Given the description of an element on the screen output the (x, y) to click on. 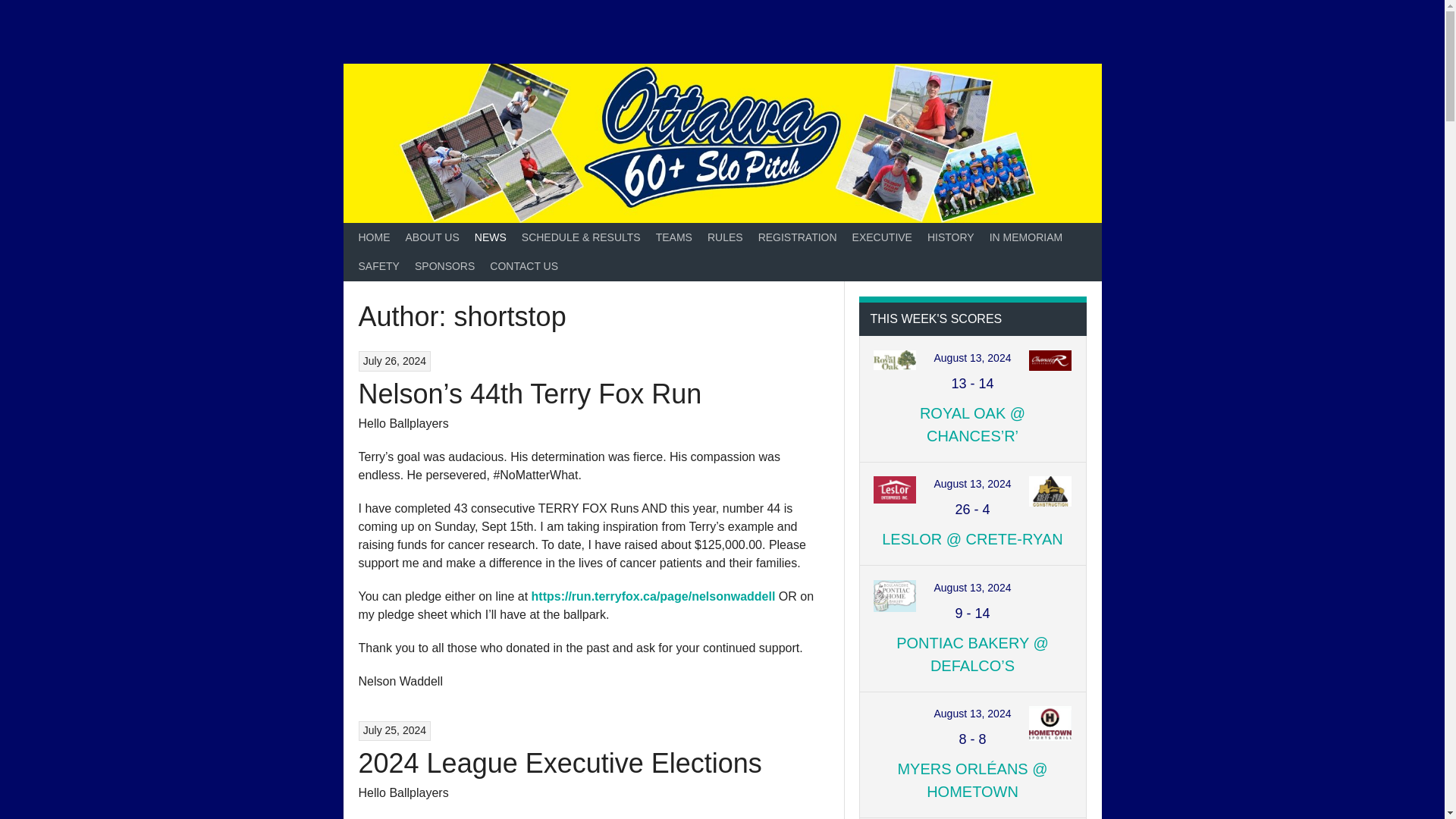
TEAMS (673, 237)
SPONSORS (444, 266)
HISTORY (950, 237)
Hometown Sports Grill (1050, 726)
Pontiac Home Bakery (894, 600)
REGISTRATION (797, 237)
HOME (373, 237)
NEWS (490, 237)
CONTACT US (523, 266)
Crete-Ryan (1050, 496)
